Given the description of an element on the screen output the (x, y) to click on. 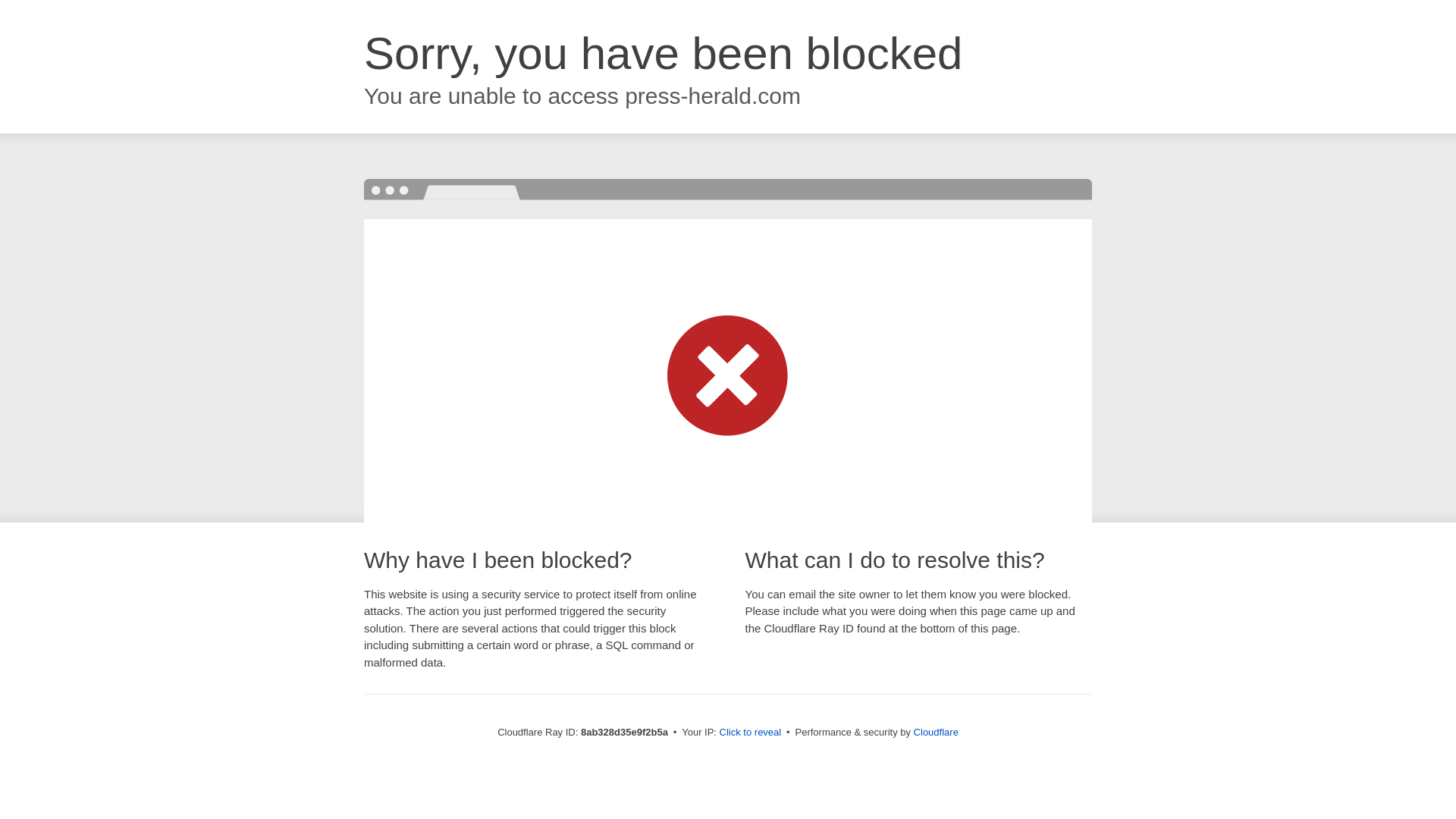
Cloudflare (936, 731)
Click to reveal (750, 732)
